Given the description of an element on the screen output the (x, y) to click on. 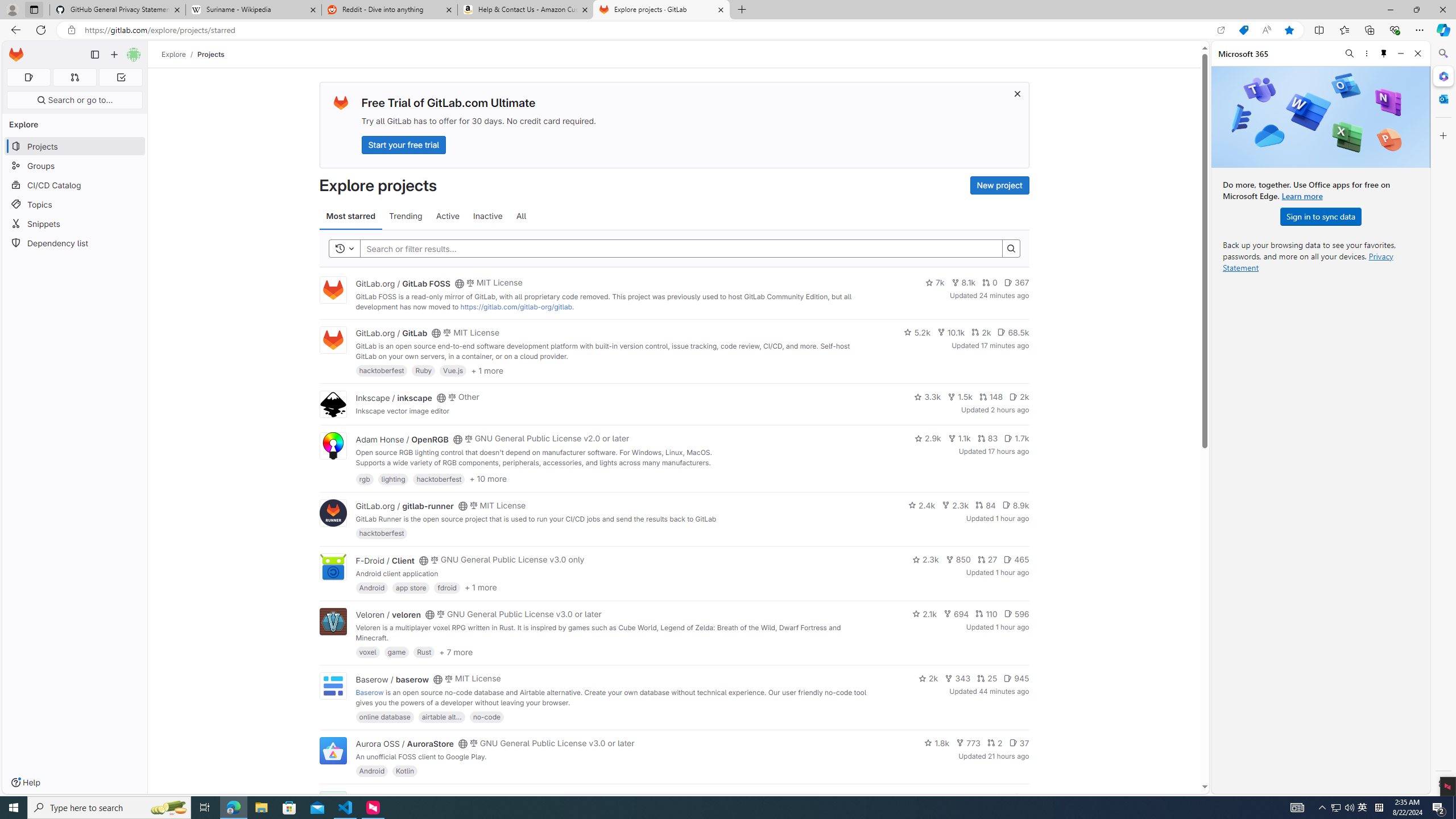
lighting (392, 478)
2.9k (927, 438)
Open in app (1220, 29)
Groups (74, 165)
367 (1016, 282)
8.9k (1015, 504)
1 (999, 797)
5.2k (917, 331)
Projects (211, 53)
25 (986, 678)
F-Droid / Client (384, 560)
rgb (364, 478)
1.8k (936, 742)
